Given the description of an element on the screen output the (x, y) to click on. 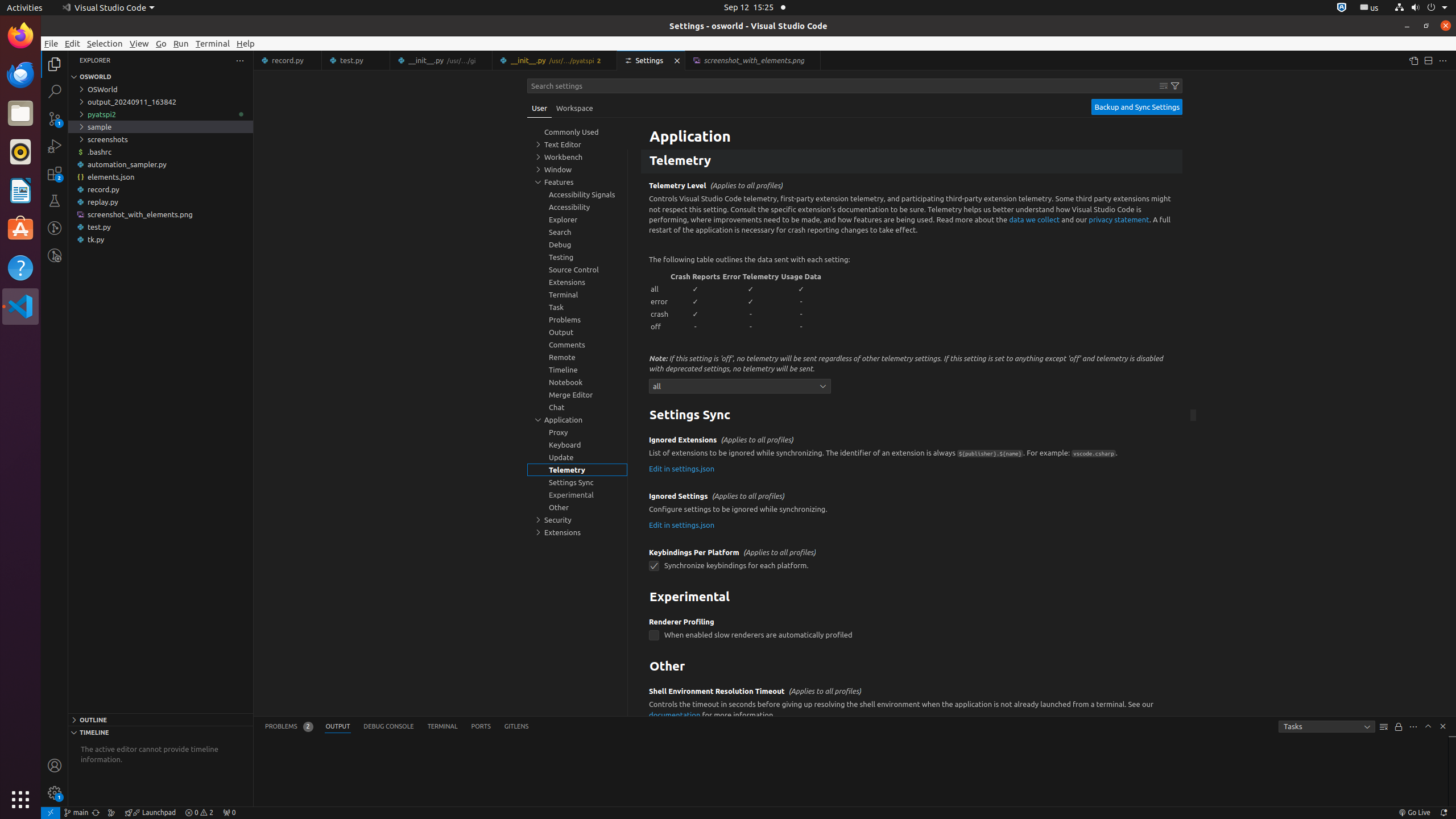
 Ignored Settings. Setting value retained when switching profiles. Configure settings to be ignored while synchronizing.  Element type: tree-item (911, 512)
Application, group Element type: tree-item (577, 419)
 Keybindings Per Platform. Setting value retained when switching profiles. Synchronize keybindings for each platform.  Element type: tree-item (911, 562)
 Shell Environment Resolution Timeout. Setting value retained when switching profiles. Controls the timeout in seconds before giving up resolving the shell environment when the application is not already launched from a terminal. See our documentation for more information.  Element type: tree-item (911, 714)
Search, group Element type: tree-item (577, 231)
